Given the description of an element on the screen output the (x, y) to click on. 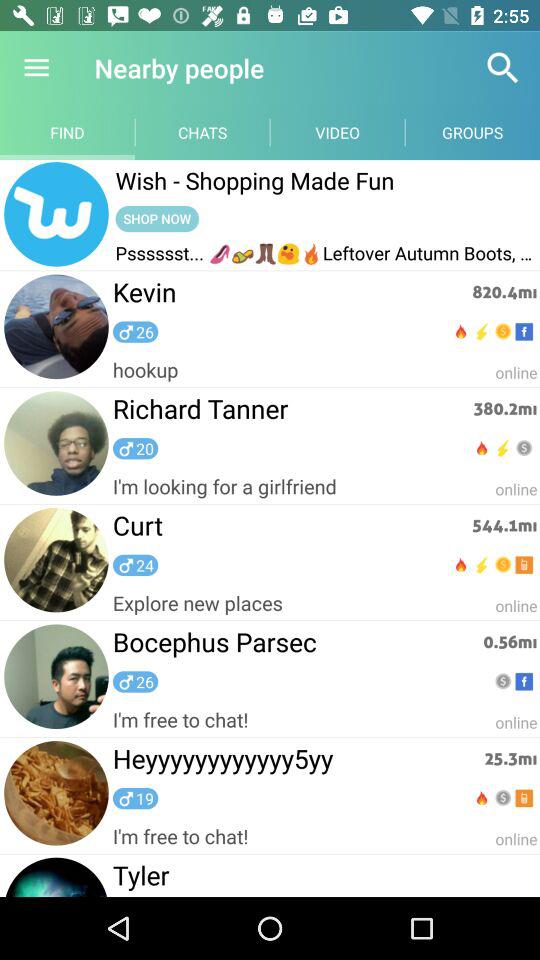
click on profile (56, 215)
